Given the description of an element on the screen output the (x, y) to click on. 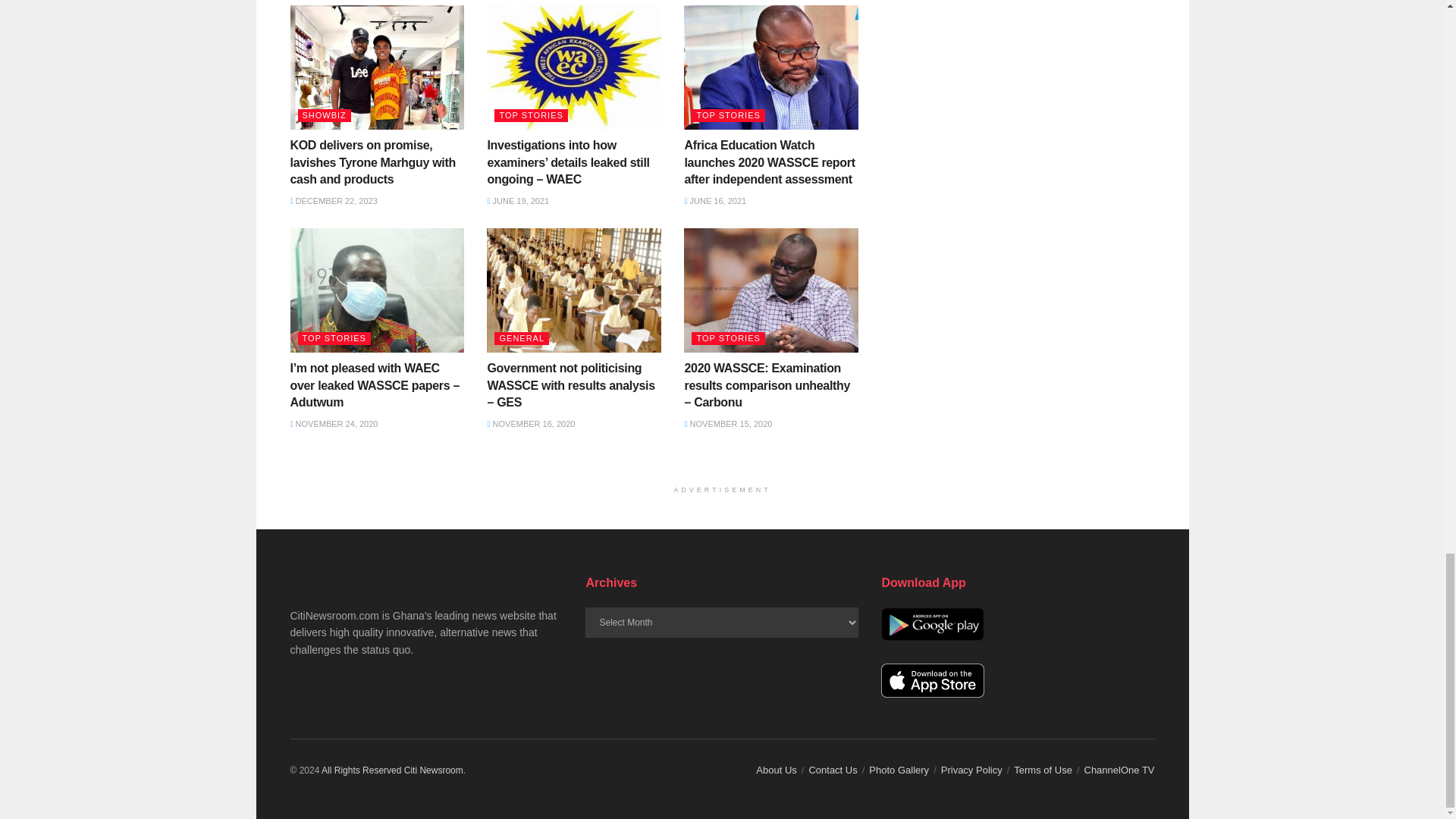
Citi Newsroom (433, 769)
Citi Newsroom (361, 769)
Google Play (932, 624)
App Store (932, 680)
